Given the description of an element on the screen output the (x, y) to click on. 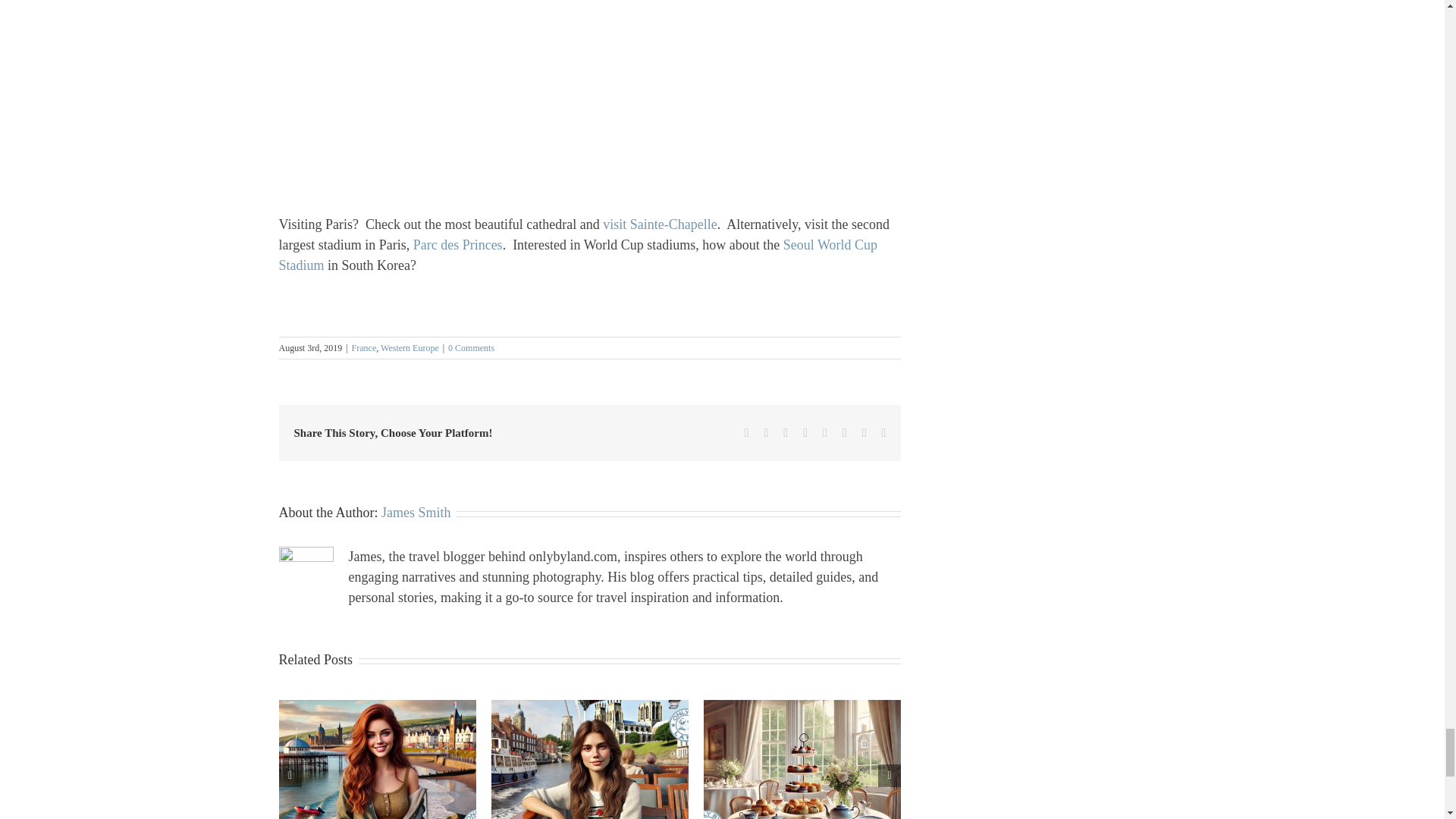
Parc des Princes (457, 244)
Seoul World Cup Stadium (578, 254)
0 Comments (471, 347)
visit Sainte-Chapelle (659, 224)
Western Europe (409, 347)
France (364, 347)
